Given the description of an element on the screen output the (x, y) to click on. 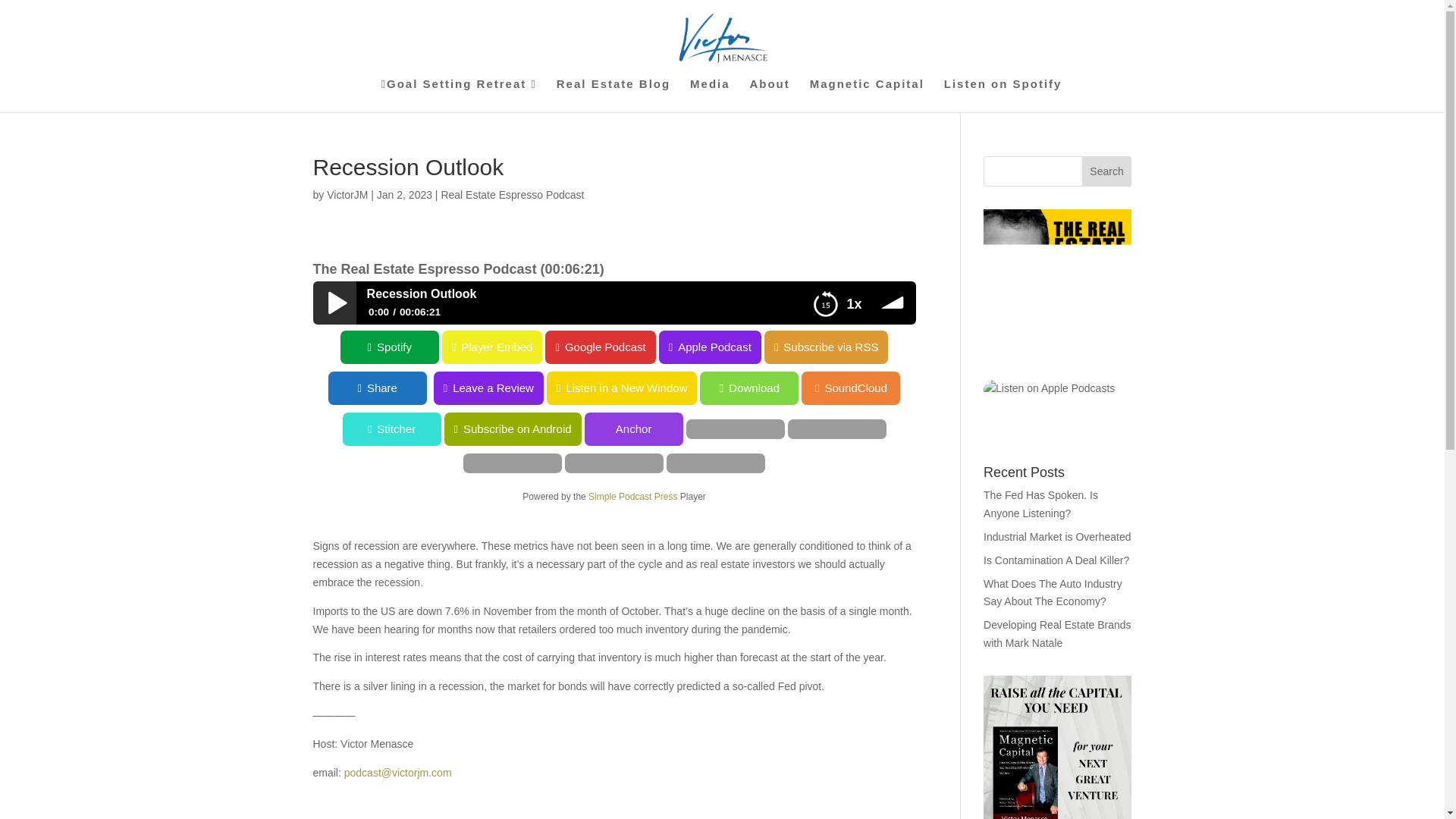
Stitcher (49, 428)
Share (555, 387)
Magnetic Capital (866, 95)
About (769, 95)
Player Embed (50, 346)
Apple Podcast (710, 346)
Real Estate Espresso Podcast (512, 194)
Leave a Review (666, 387)
Subscribe via RSS (826, 346)
Download (49, 387)
